Given the description of an element on the screen output the (x, y) to click on. 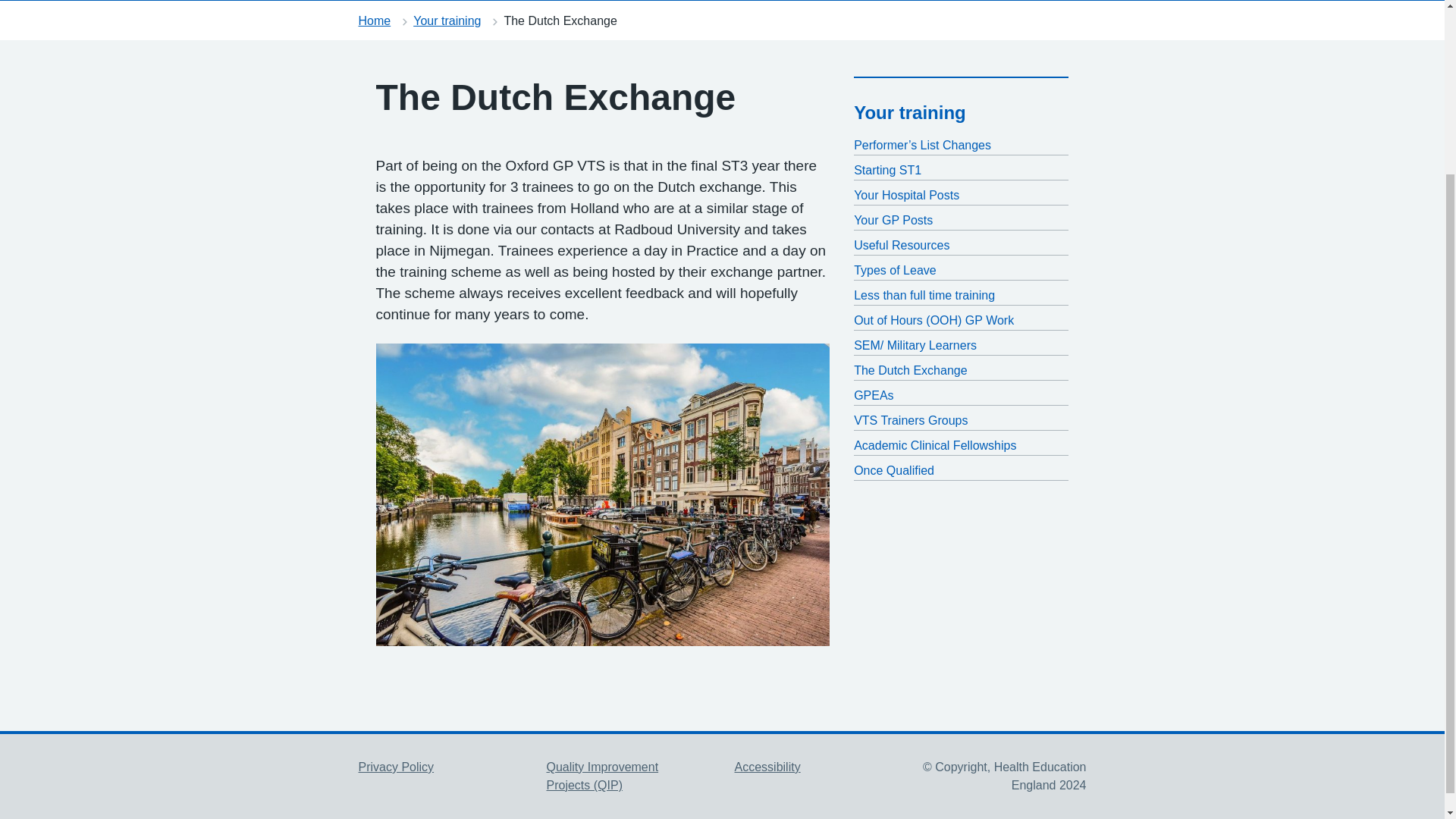
Trainers (904, 0)
Home (374, 20)
MRCGP (559, 0)
Types of Leave (960, 270)
Less than full time training (960, 295)
Starting ST1 (960, 170)
Useful Resources (960, 245)
Home (386, 0)
